Given the description of an element on the screen output the (x, y) to click on. 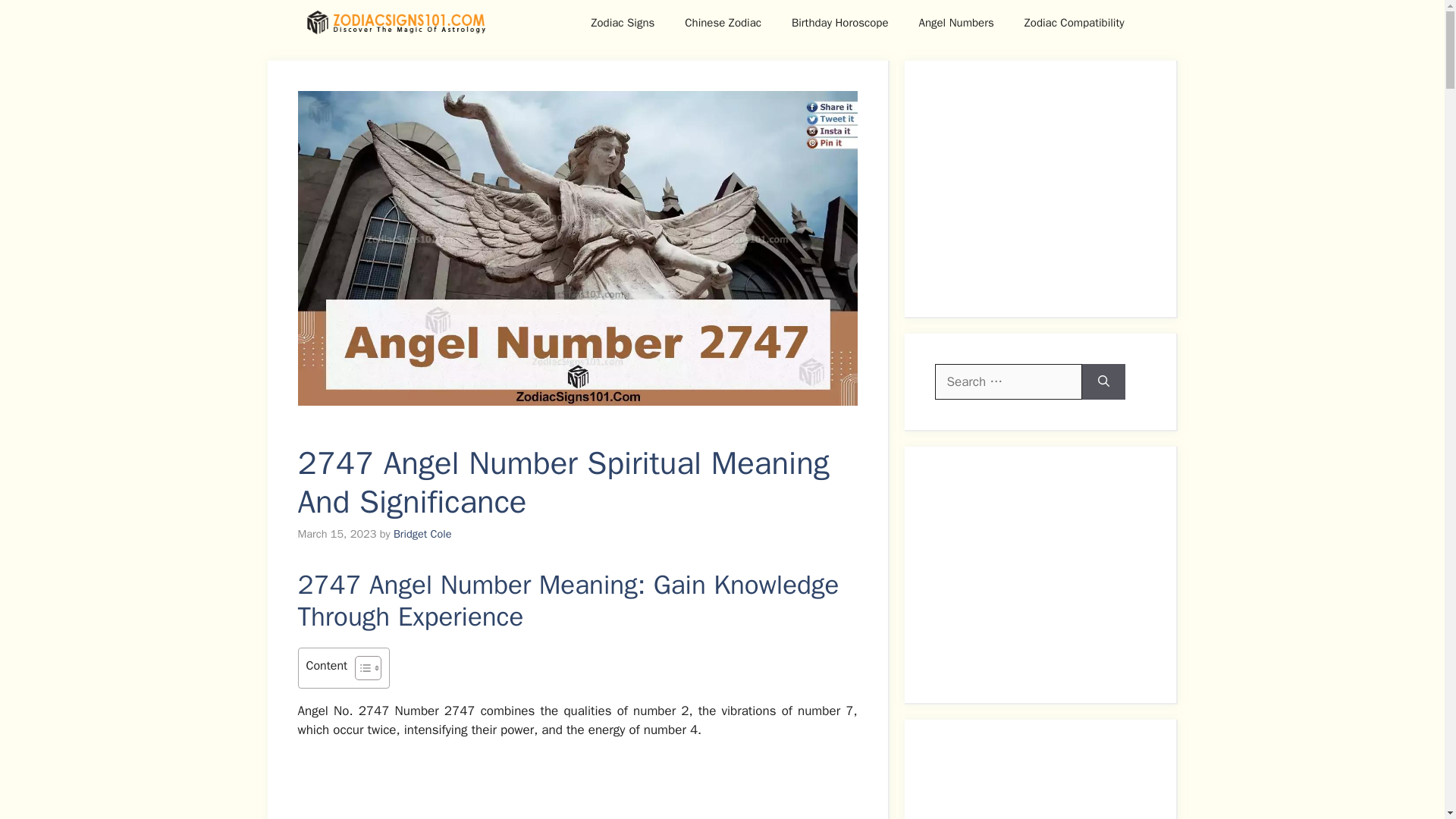
Bridget Cole (422, 533)
Angel Numbers (956, 22)
View all posts by Bridget Cole (422, 533)
Chinese Zodiac (722, 22)
Zodiac Compatibility (1074, 22)
Zodiac Signs (622, 22)
Birthday Horoscope (840, 22)
ZodiacSigns101 (395, 22)
